Given the description of an element on the screen output the (x, y) to click on. 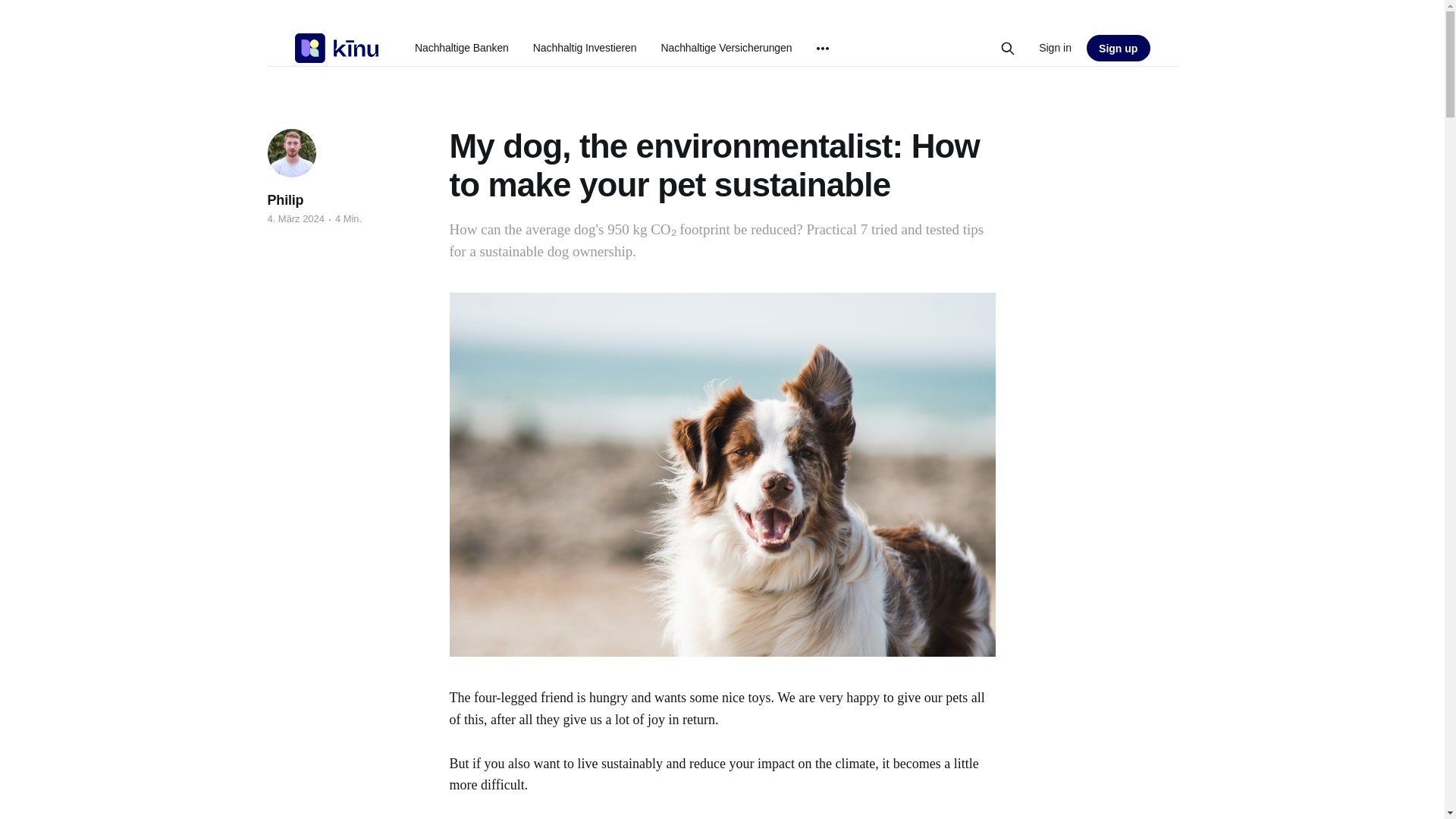
Sign in (1055, 47)
Philip (284, 199)
Sign up (1118, 48)
Nachhaltige Versicherungen (726, 47)
Nachhaltige Banken (461, 47)
Nachhaltig Investieren (584, 47)
